Given the description of an element on the screen output the (x, y) to click on. 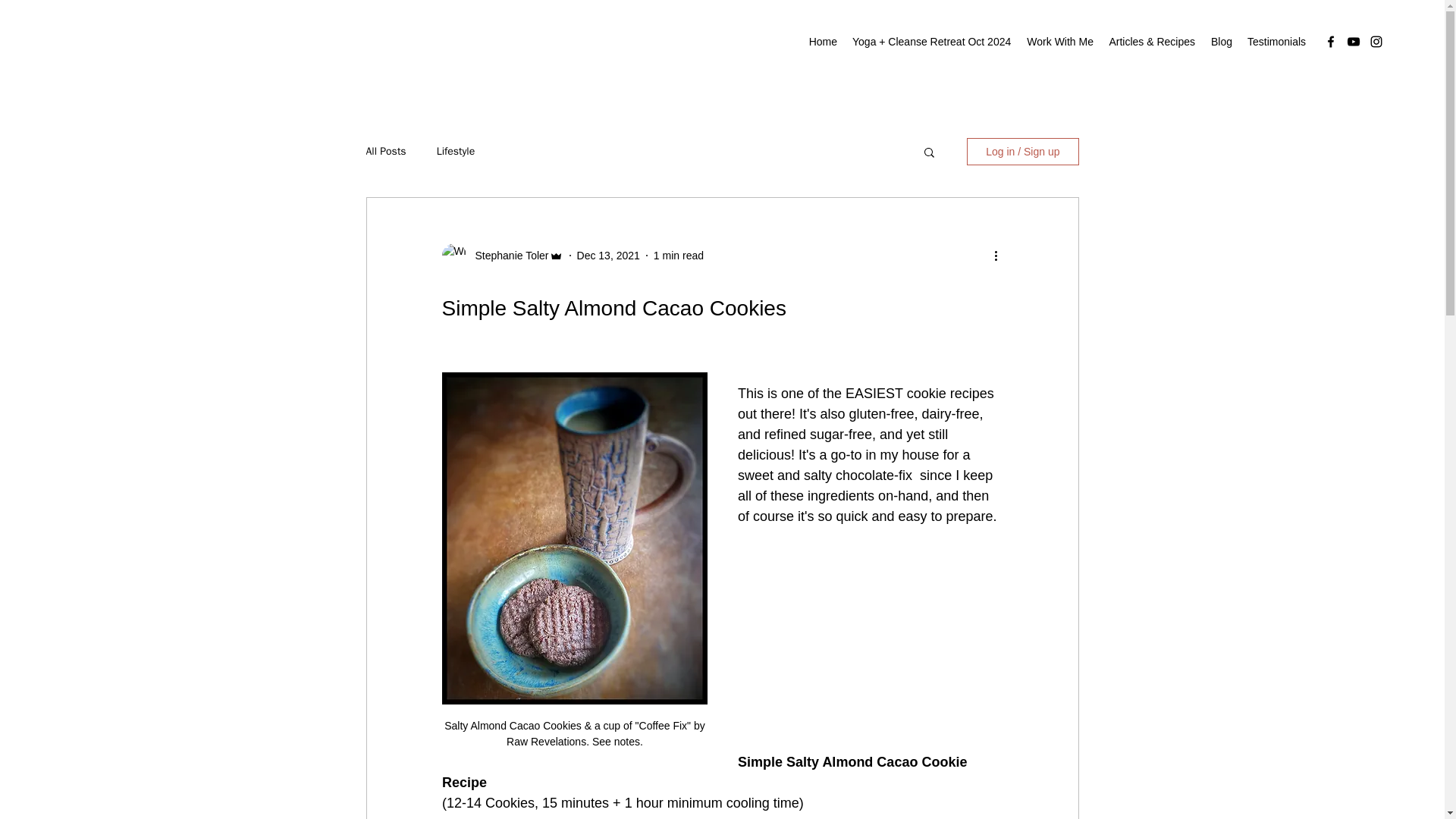
Stephanie Toler (506, 254)
Home (822, 41)
Dec 13, 2021 (608, 254)
Work With Me (1058, 41)
1 min read (678, 254)
Lifestyle (456, 151)
Testimonials (1275, 41)
Blog (1221, 41)
All Posts (385, 151)
